Given the description of an element on the screen output the (x, y) to click on. 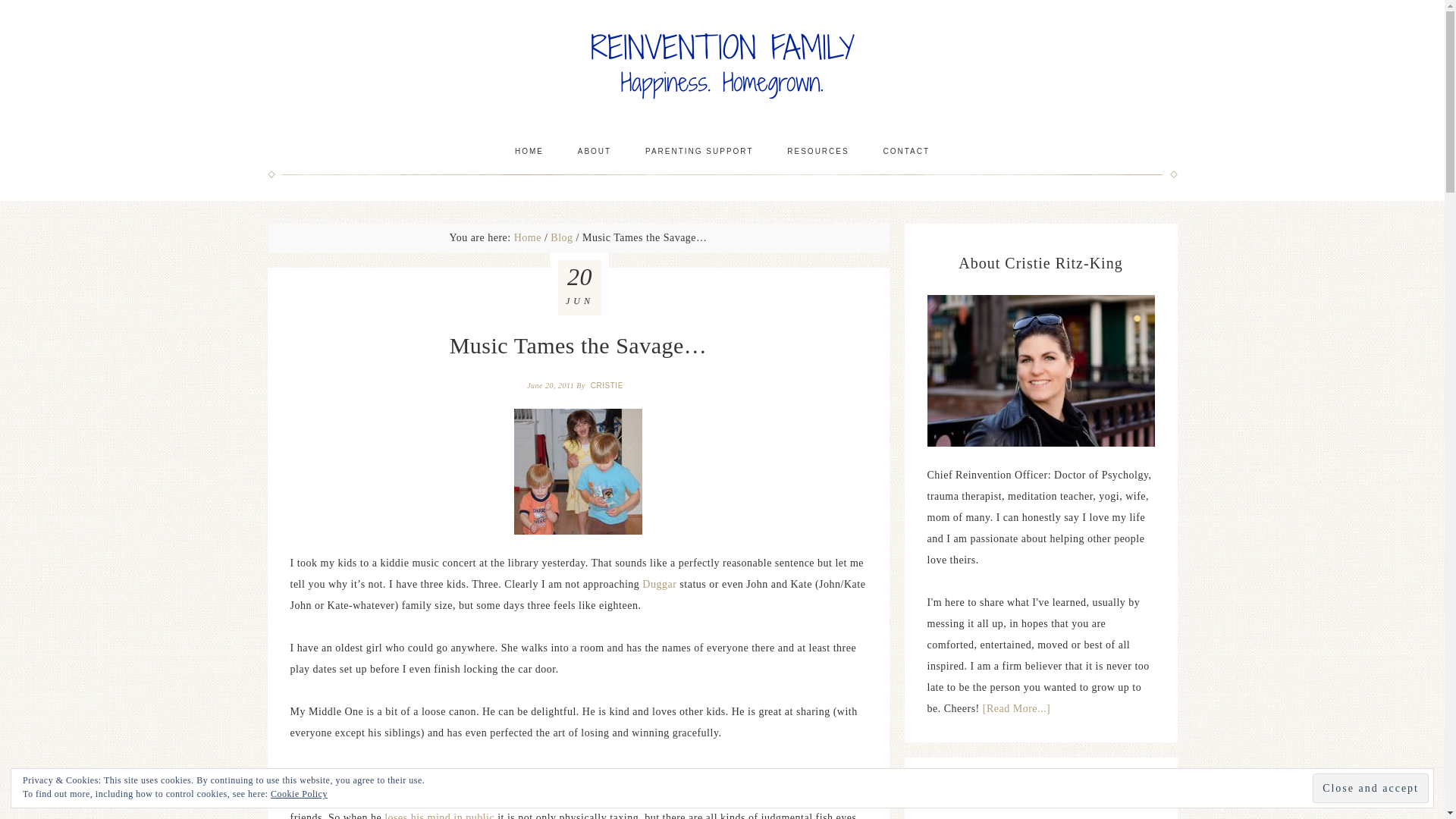
HOME (529, 151)
PARENTING SUPPORT (699, 151)
CRISTIE (608, 385)
Duggar (659, 583)
Blog (561, 237)
Close and accept (1370, 788)
CONTACT (905, 151)
REINVENTION FAMILY (722, 65)
RESOURCES (817, 151)
kidsdancing (577, 471)
Home (527, 237)
ABOUT (594, 151)
loses his mind in public (439, 815)
